Given the description of an element on the screen output the (x, y) to click on. 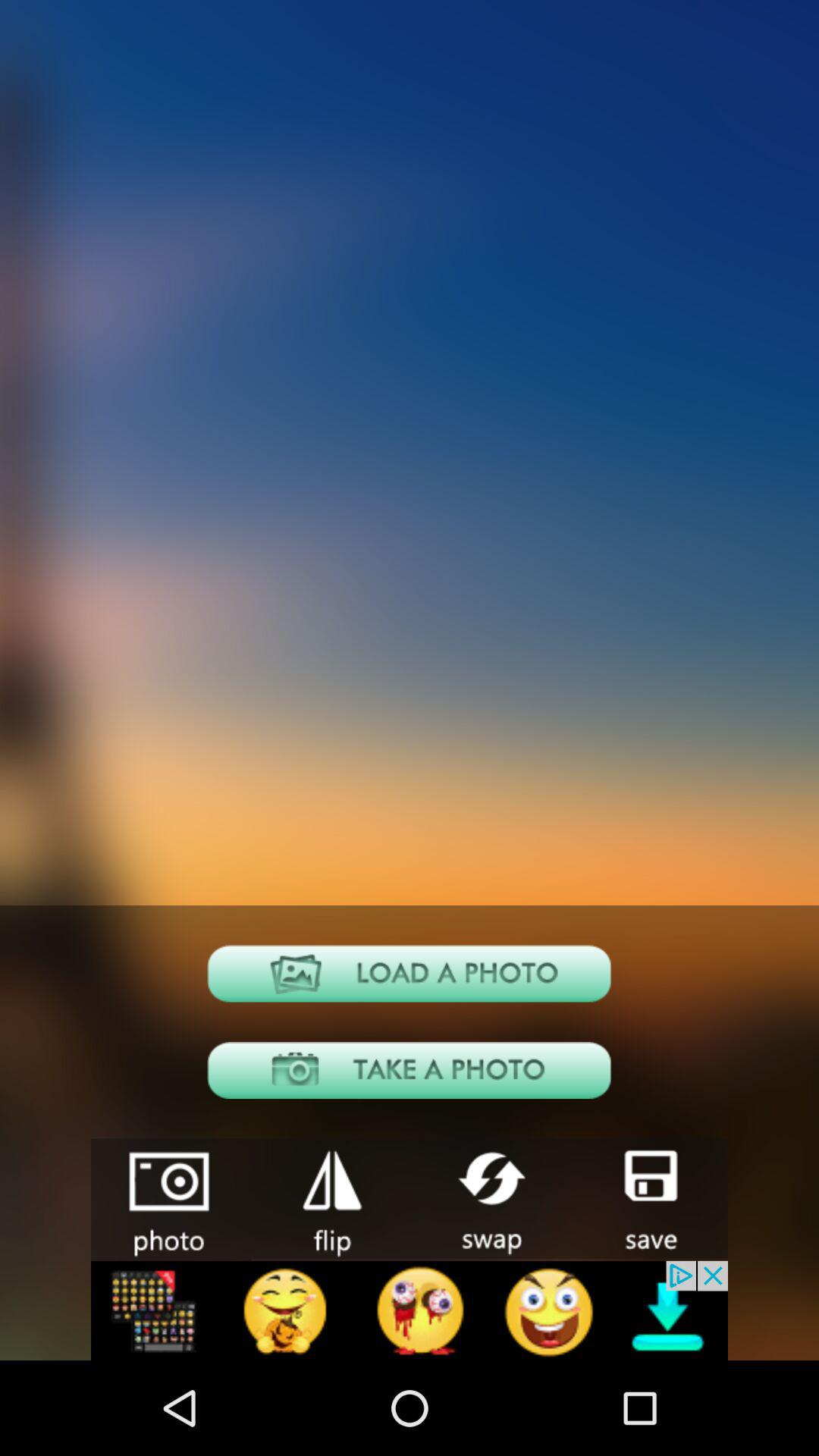
swap option (488, 1198)
